Given the description of an element on the screen output the (x, y) to click on. 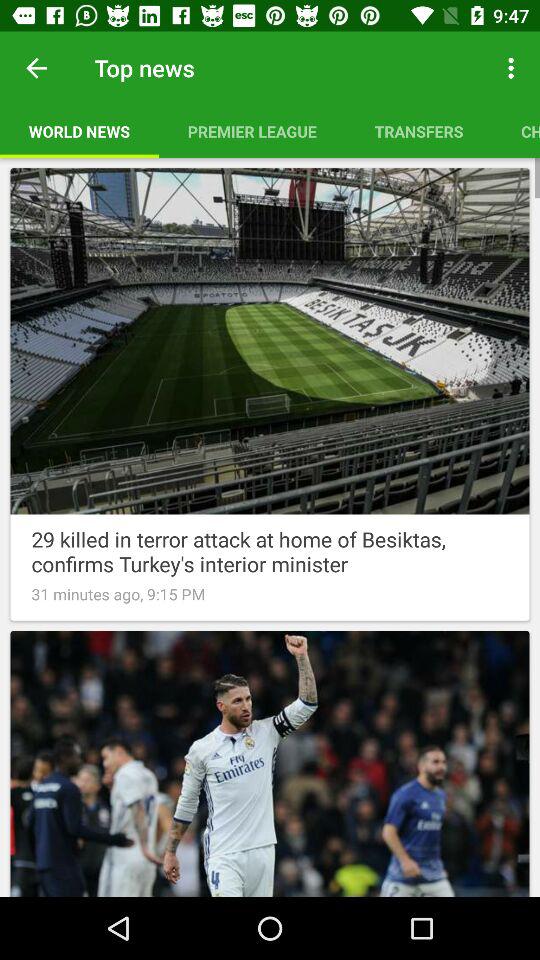
swipe to the transfers icon (418, 131)
